Given the description of an element on the screen output the (x, y) to click on. 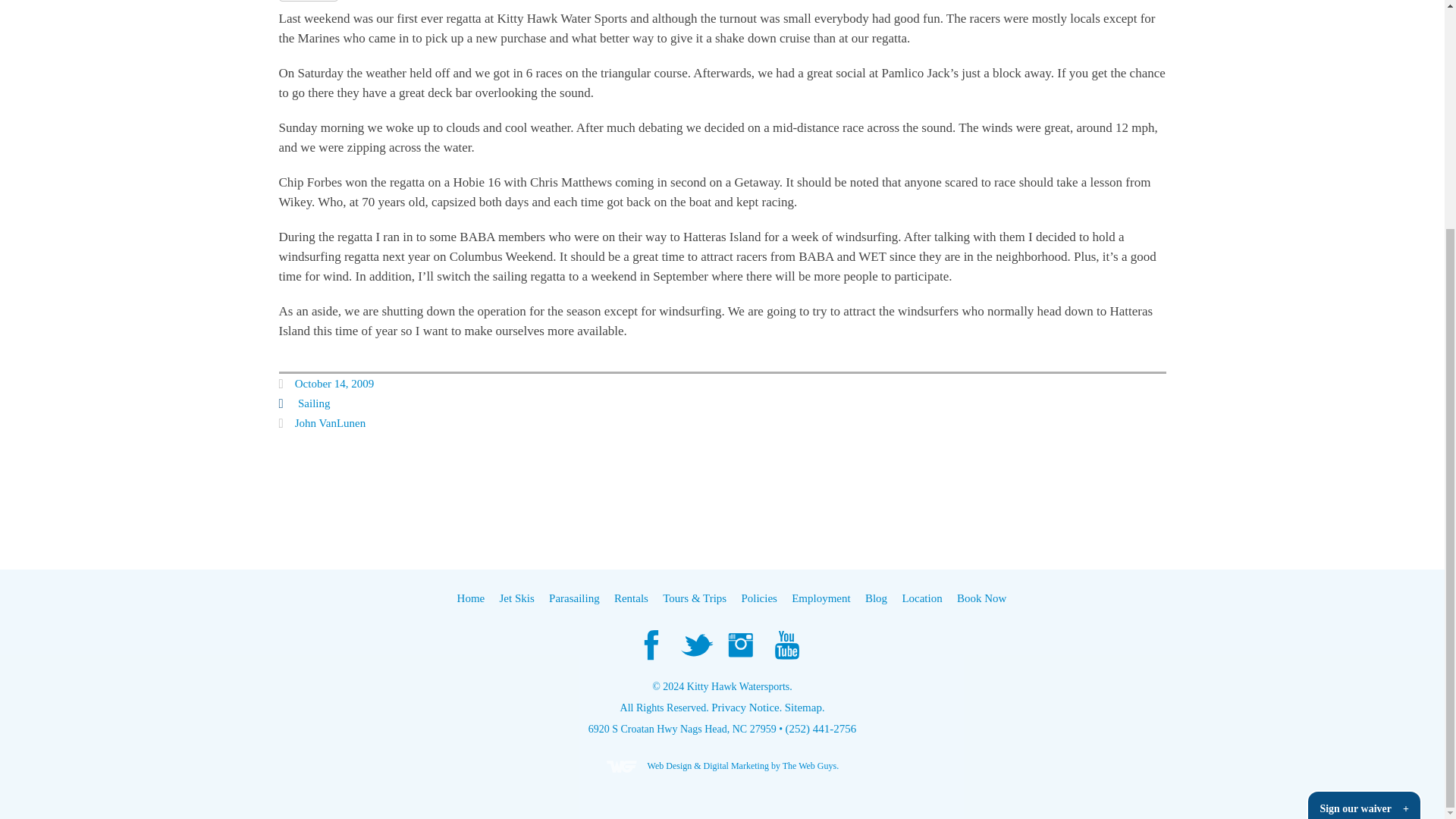
Permalink to First Ever Nags Head Regatta (334, 383)
View all posts by John VanLunen (330, 422)
